Given the description of an element on the screen output the (x, y) to click on. 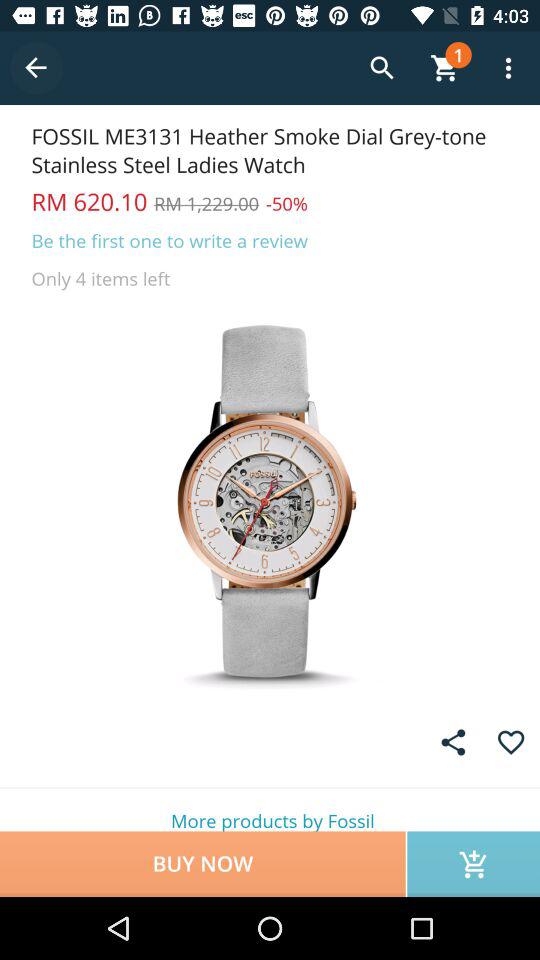
click item above more products by (510, 742)
